Given the description of an element on the screen output the (x, y) to click on. 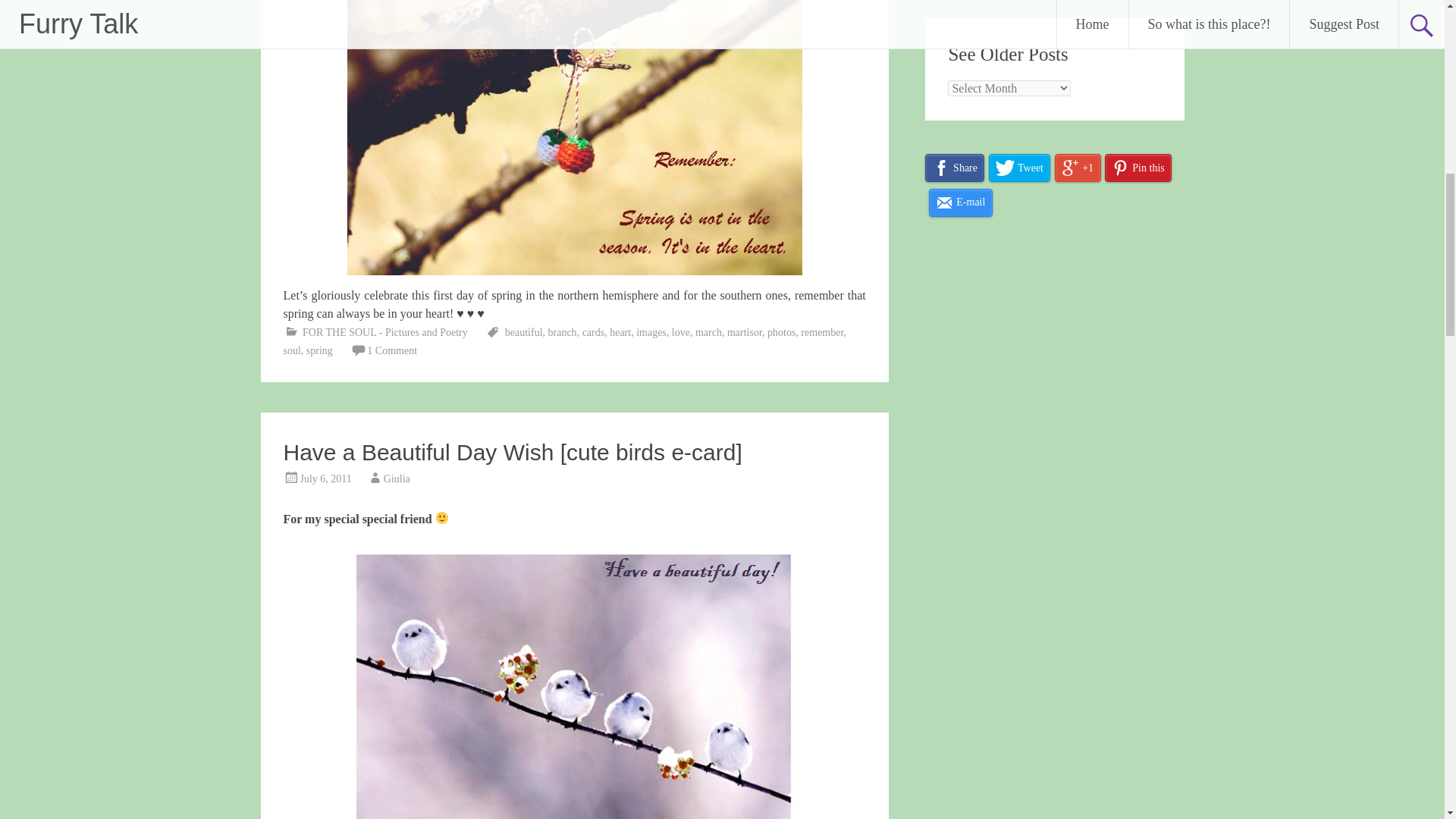
cards (593, 332)
remember (821, 332)
branch (562, 332)
FOR THE SOUL - Pictures and Poetry (384, 332)
photos (780, 332)
march (708, 332)
heart (620, 332)
beautiful (524, 332)
love (680, 332)
martisor (743, 332)
